Given the description of an element on the screen output the (x, y) to click on. 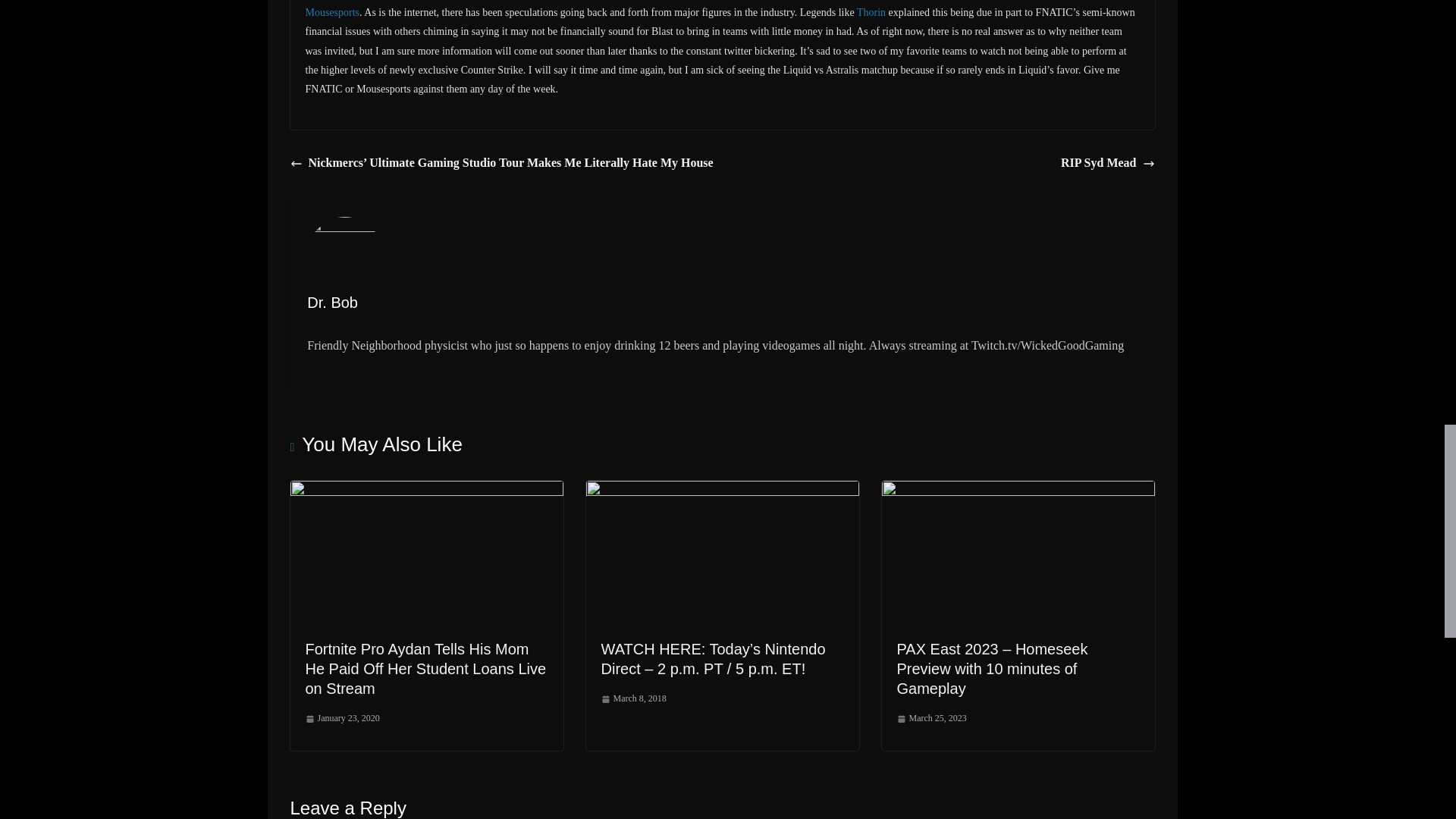
January 23, 2020 (341, 718)
Thorin (871, 12)
RIP Syd Mead (1107, 163)
Mousesports (331, 12)
12:33 pm (341, 718)
